Given the description of an element on the screen output the (x, y) to click on. 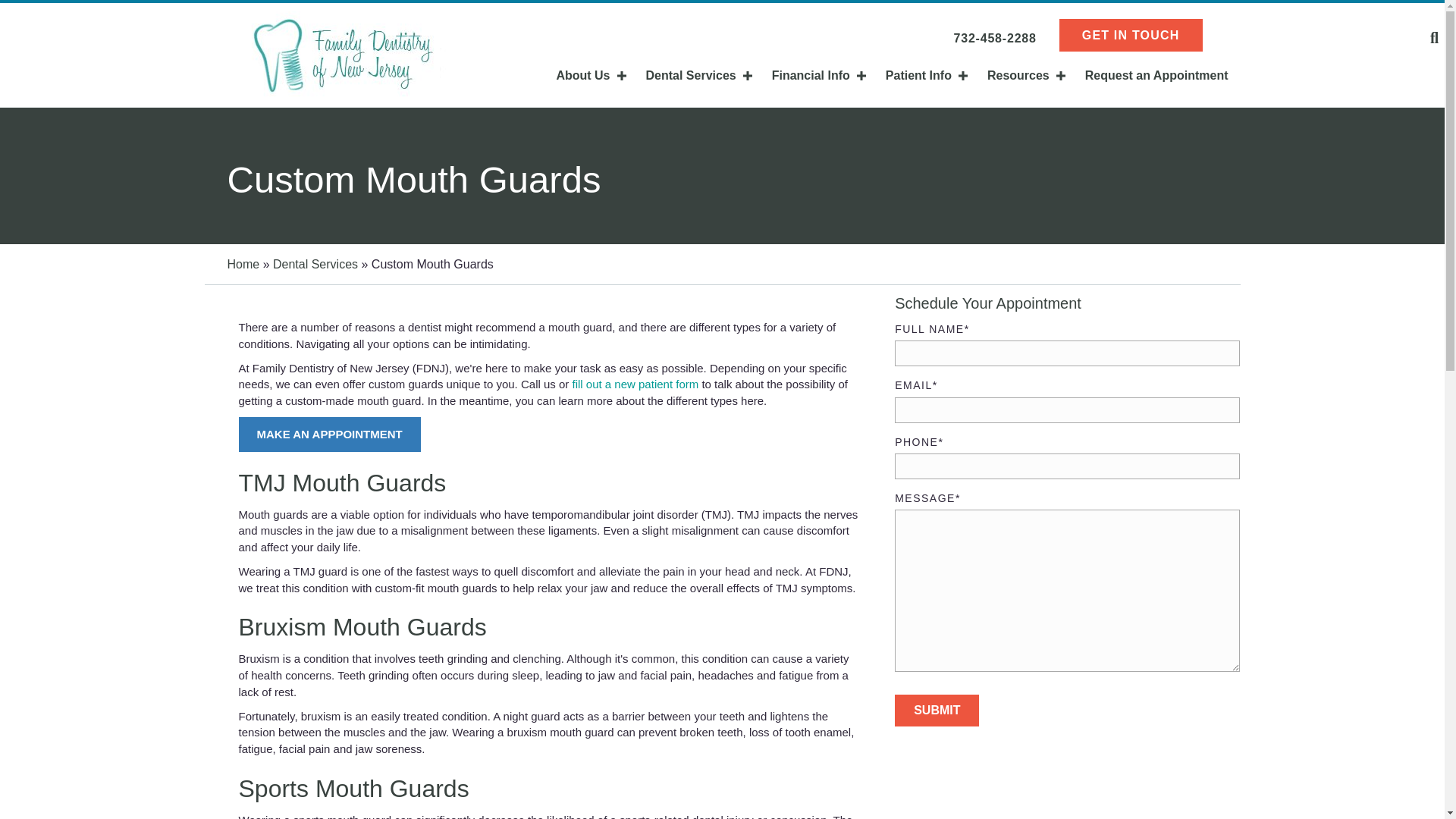
Dental Services (695, 74)
GET IN TOUCH (1130, 34)
About Us (587, 74)
732-458-2288 (994, 38)
logo (342, 55)
